Given the description of an element on the screen output the (x, y) to click on. 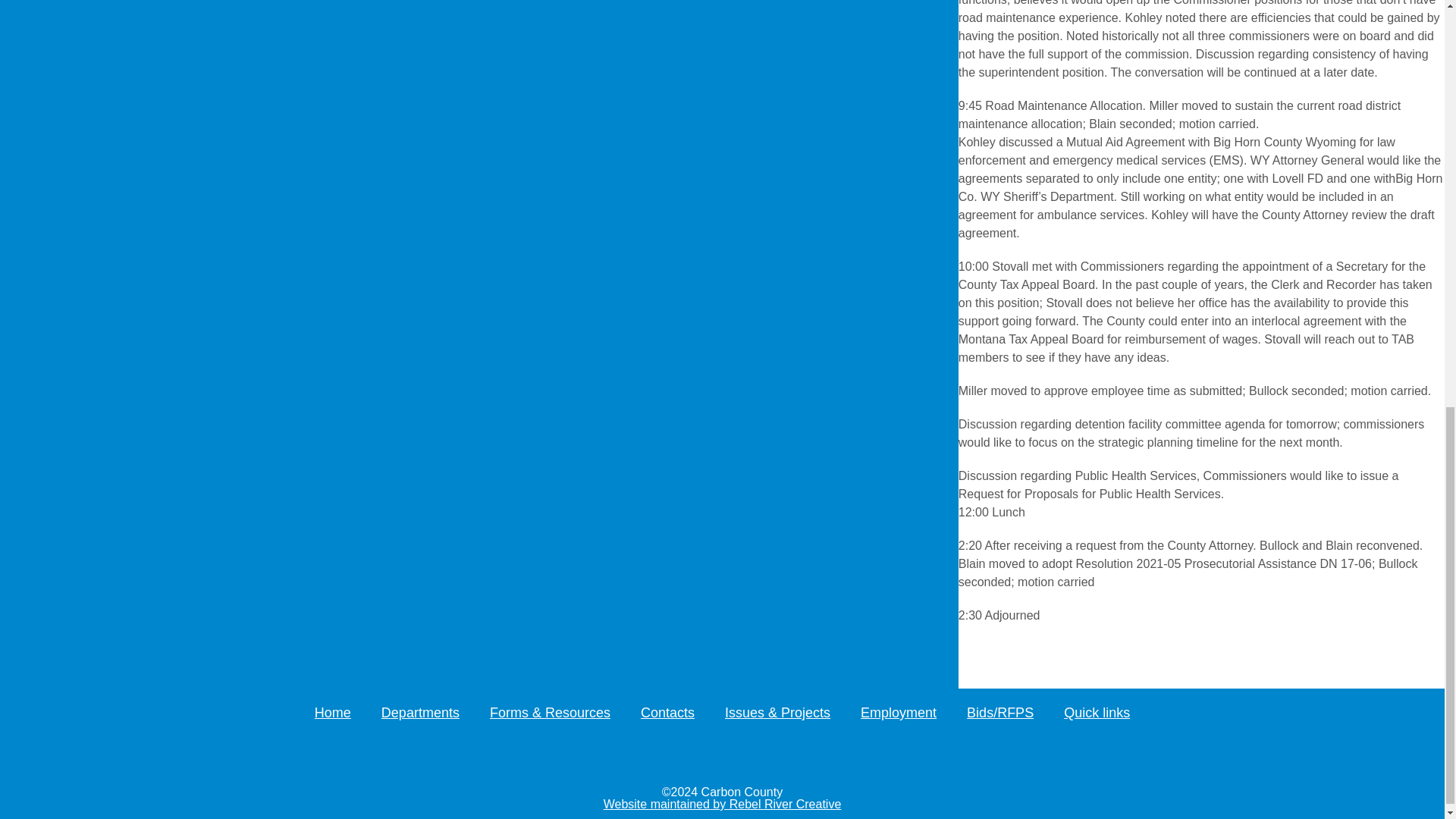
Contacts (667, 712)
Departments (420, 712)
Home (332, 712)
